Given the description of an element on the screen output the (x, y) to click on. 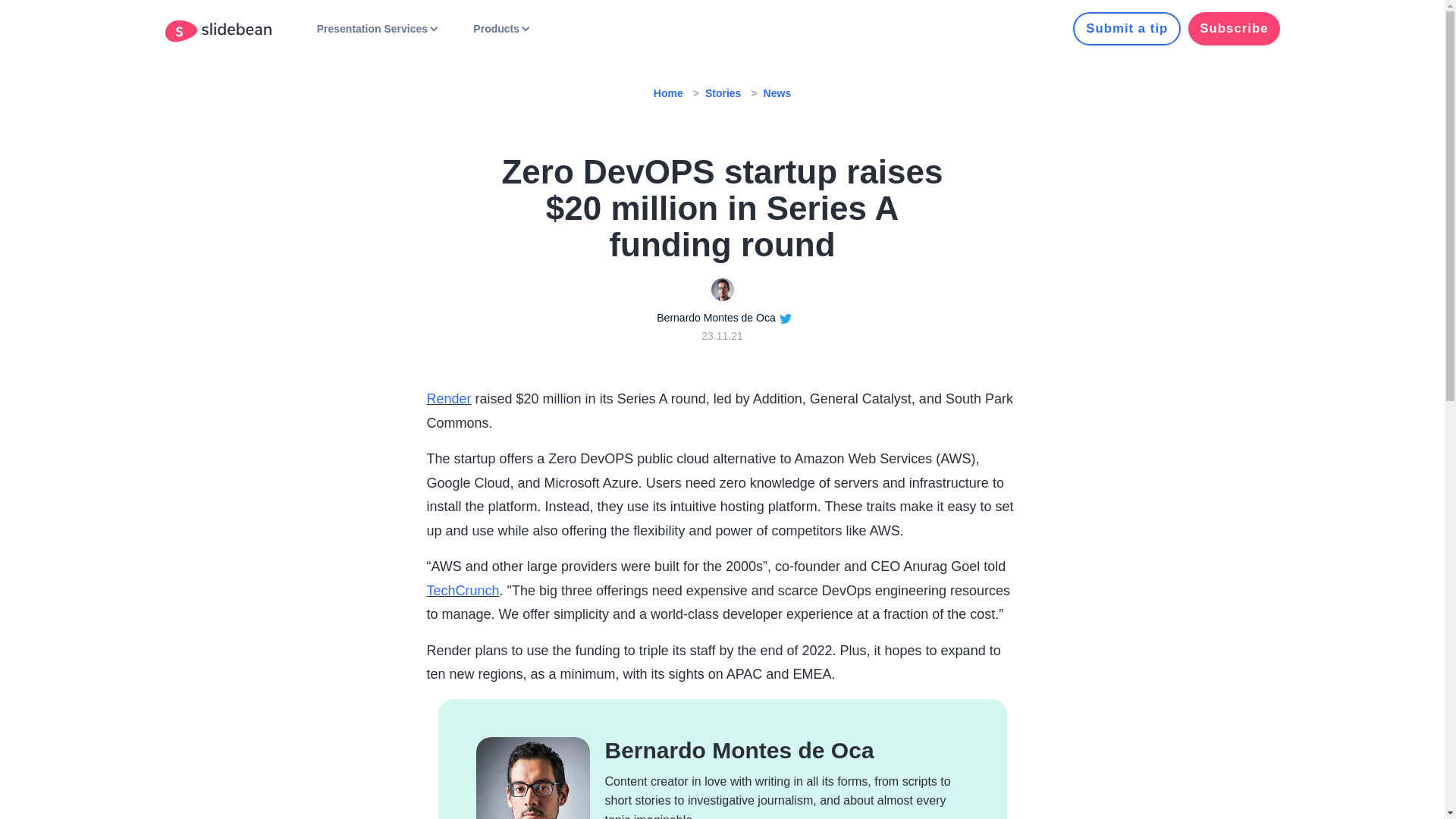
News (777, 92)
TechCrunch (462, 589)
Render (448, 398)
Bernardo Montes de Oca (715, 317)
Home (667, 92)
Subscribe (1233, 28)
Stories (722, 92)
Submit a tip (1126, 28)
